Given the description of an element on the screen output the (x, y) to click on. 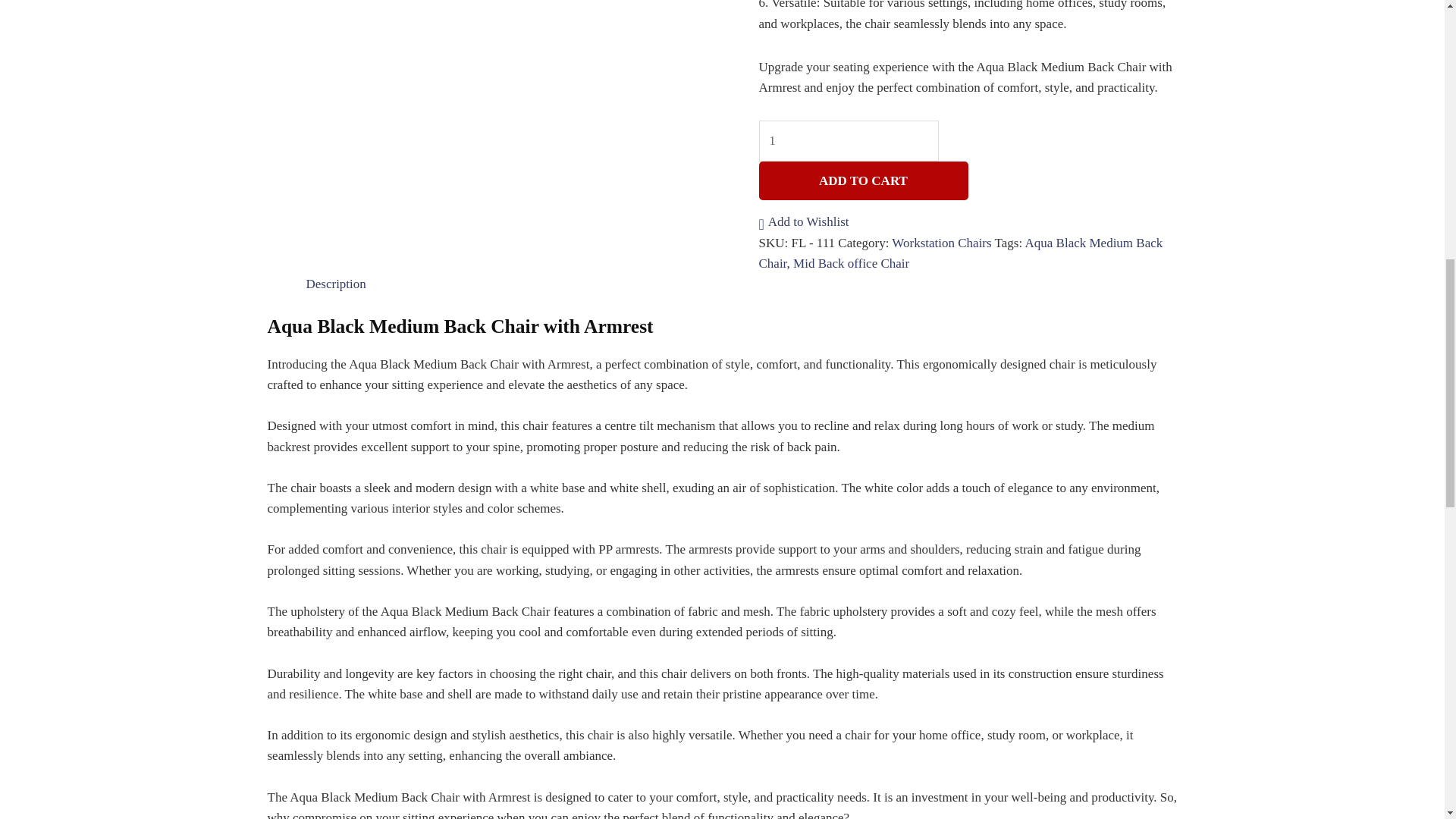
1 (848, 141)
